Given the description of an element on the screen output the (x, y) to click on. 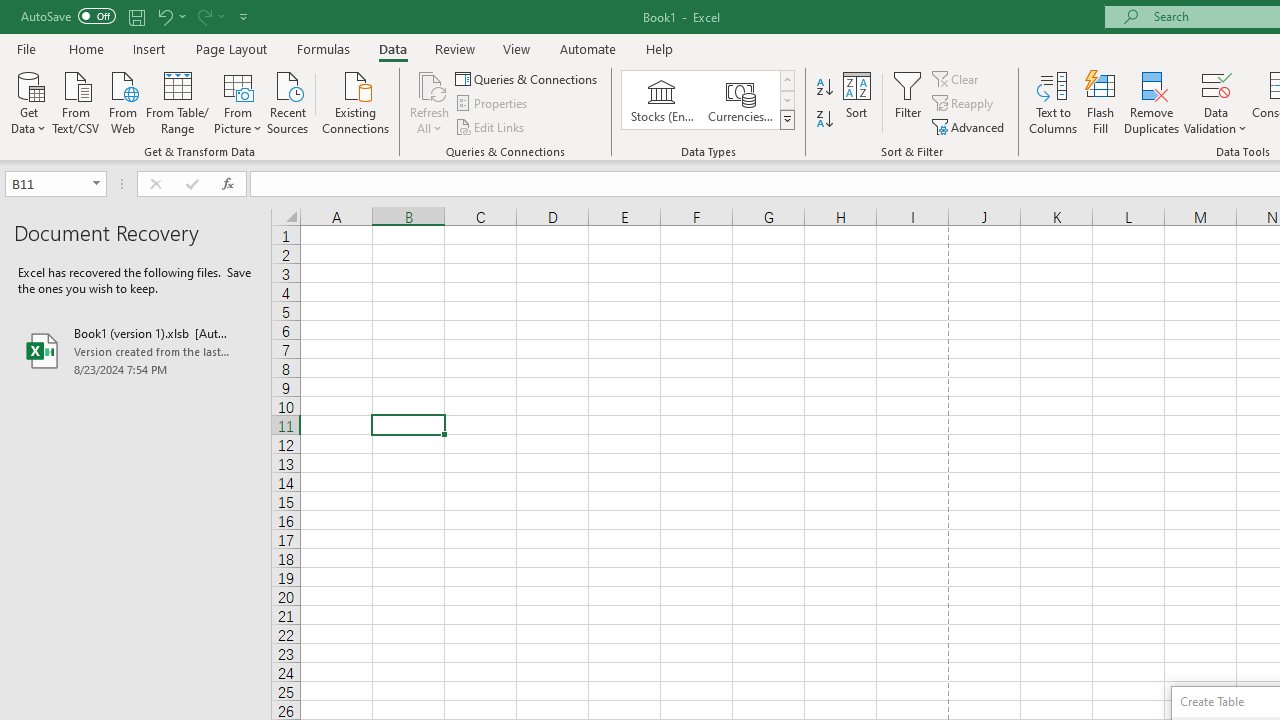
From Table/Range (177, 101)
Help (660, 48)
AutomationID: ConvertToLinkedEntity (708, 99)
Refresh All (429, 102)
Data Types (786, 120)
Sort Z to A (824, 119)
Open (96, 183)
Review (454, 48)
Properties (492, 103)
Reapply (964, 103)
Insert (149, 48)
Existing Connections (355, 101)
Automate (588, 48)
Refresh All (429, 84)
